Given the description of an element on the screen output the (x, y) to click on. 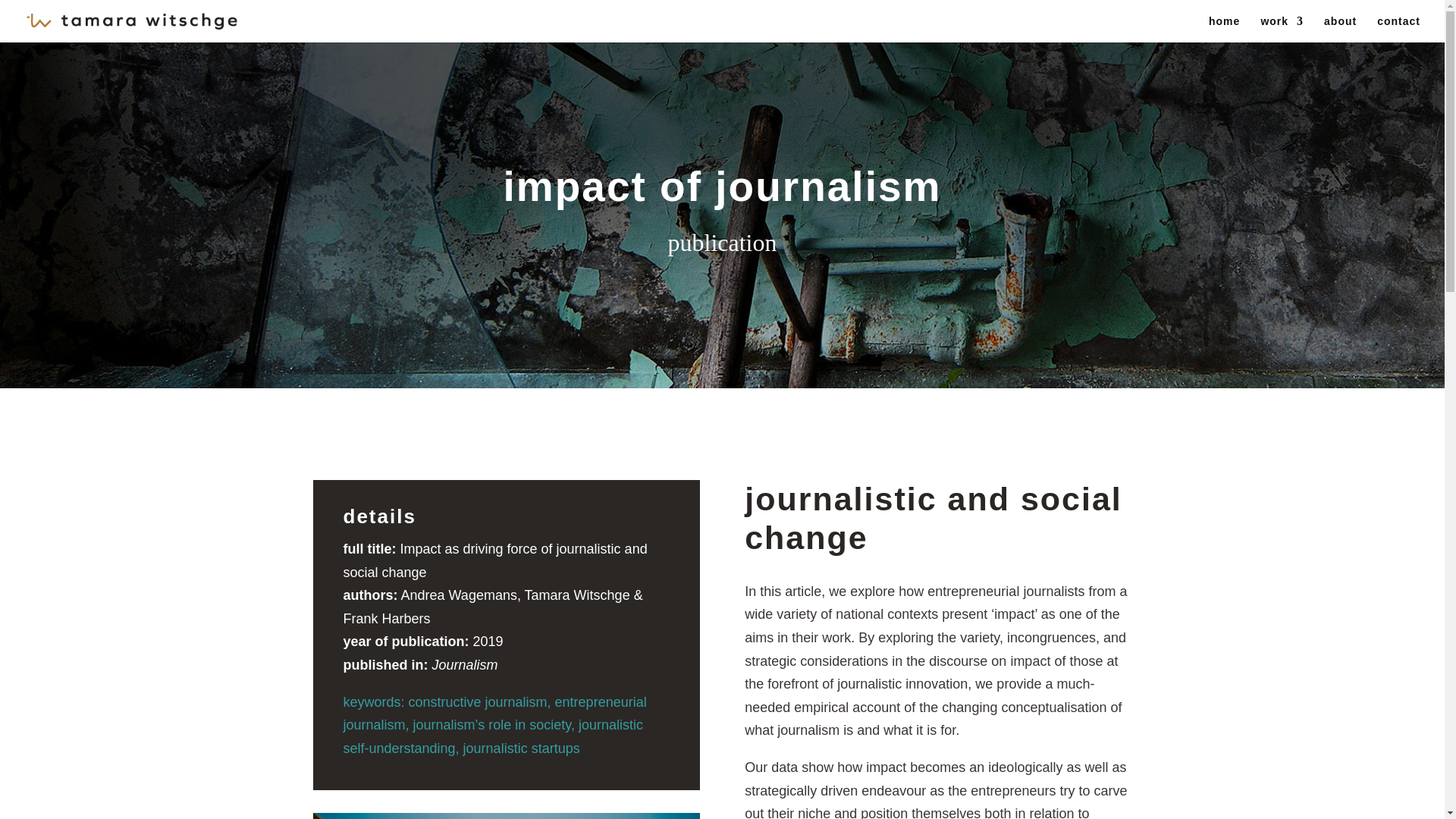
home (1224, 28)
contact (1399, 28)
about (1339, 28)
By: Anonymous  (935, 789)
work (1281, 28)
By: Anonymous  (935, 660)
